Given the description of an element on the screen output the (x, y) to click on. 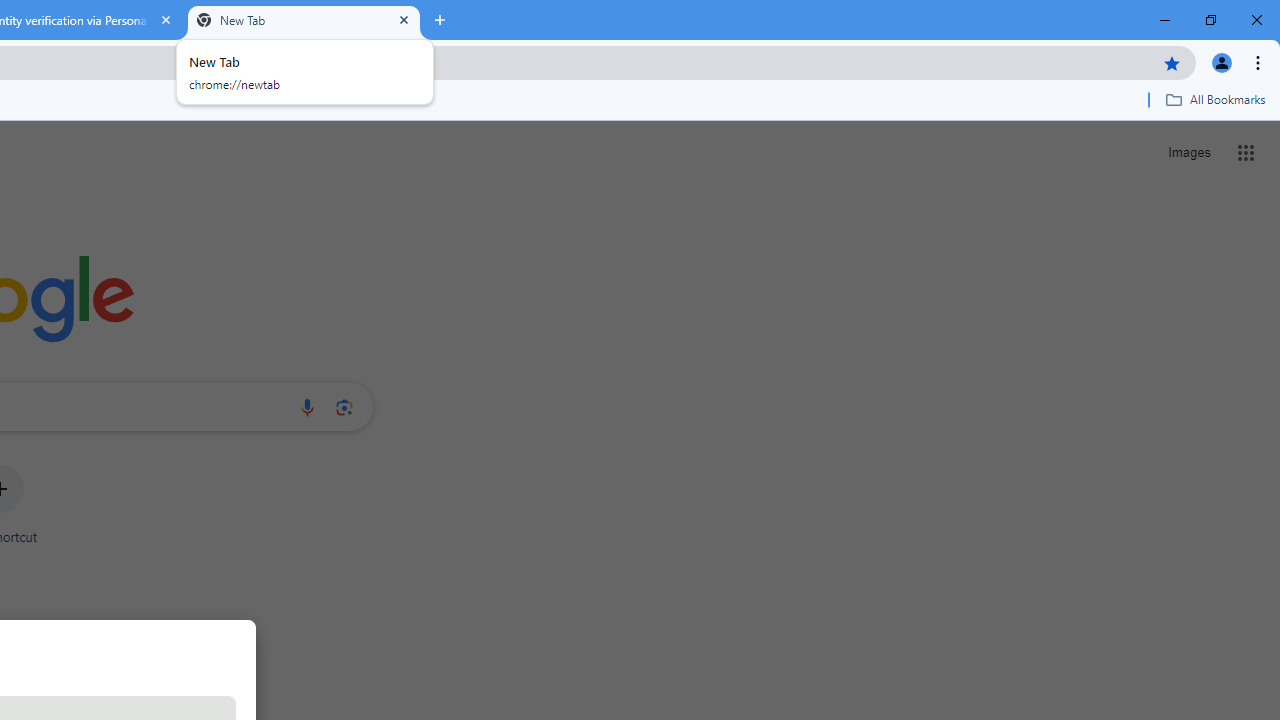
New Tab (304, 20)
